Given the description of an element on the screen output the (x, y) to click on. 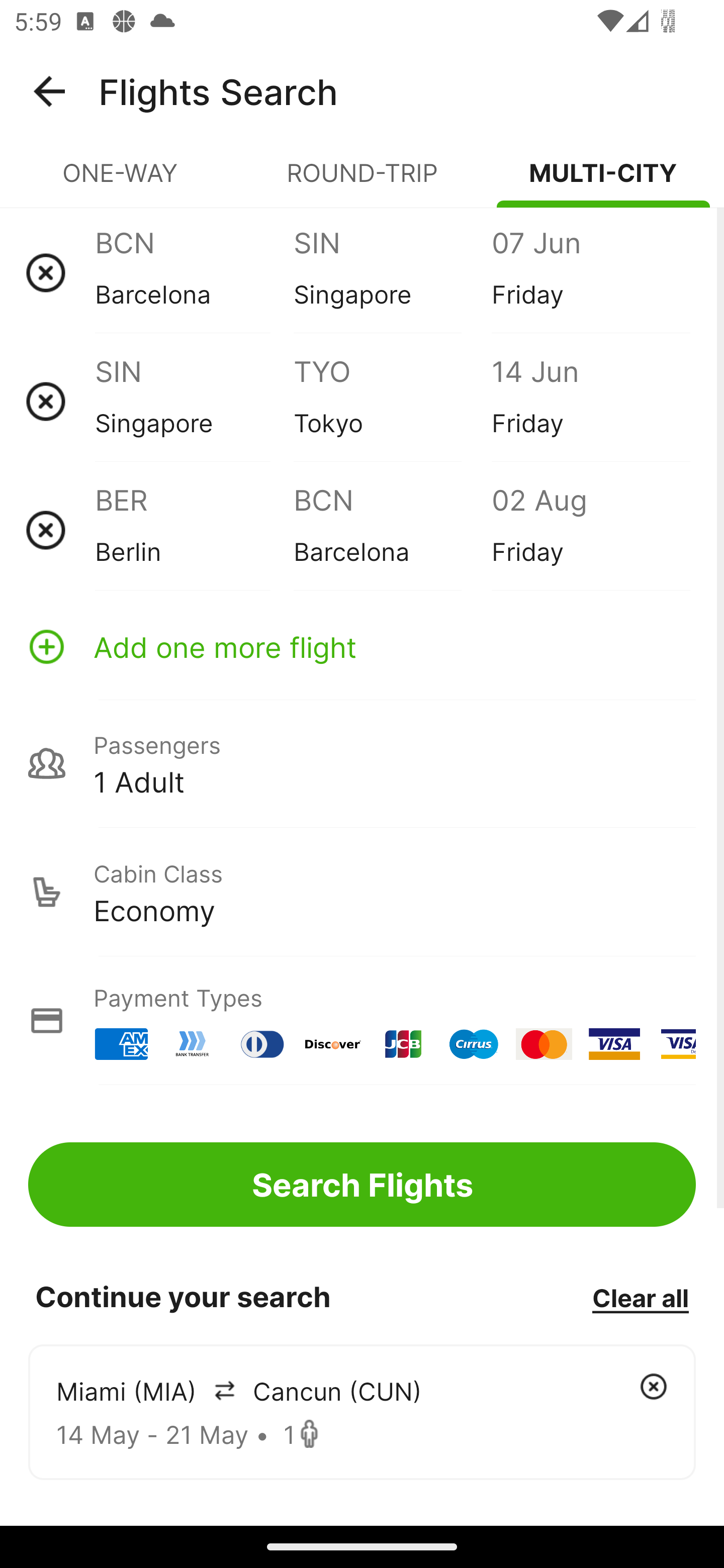
ONE-WAY (120, 180)
ROUND-TRIP (361, 180)
MULTI-CITY (603, 180)
BCN Barcelona (193, 272)
SIN Singapore (392, 272)
07 Jun Friday (590, 272)
SIN Singapore (193, 401)
TYO Tokyo (392, 401)
14 Jun Friday (590, 401)
BER Berlin (193, 529)
BCN Barcelona (392, 529)
02 Aug Friday (590, 529)
Add one more flight (362, 646)
Passengers 1 Adult (362, 762)
Cabin Class Economy (362, 891)
Payment Types (362, 1020)
Search Flights (361, 1184)
Clear all (640, 1297)
